Given the description of an element on the screen output the (x, y) to click on. 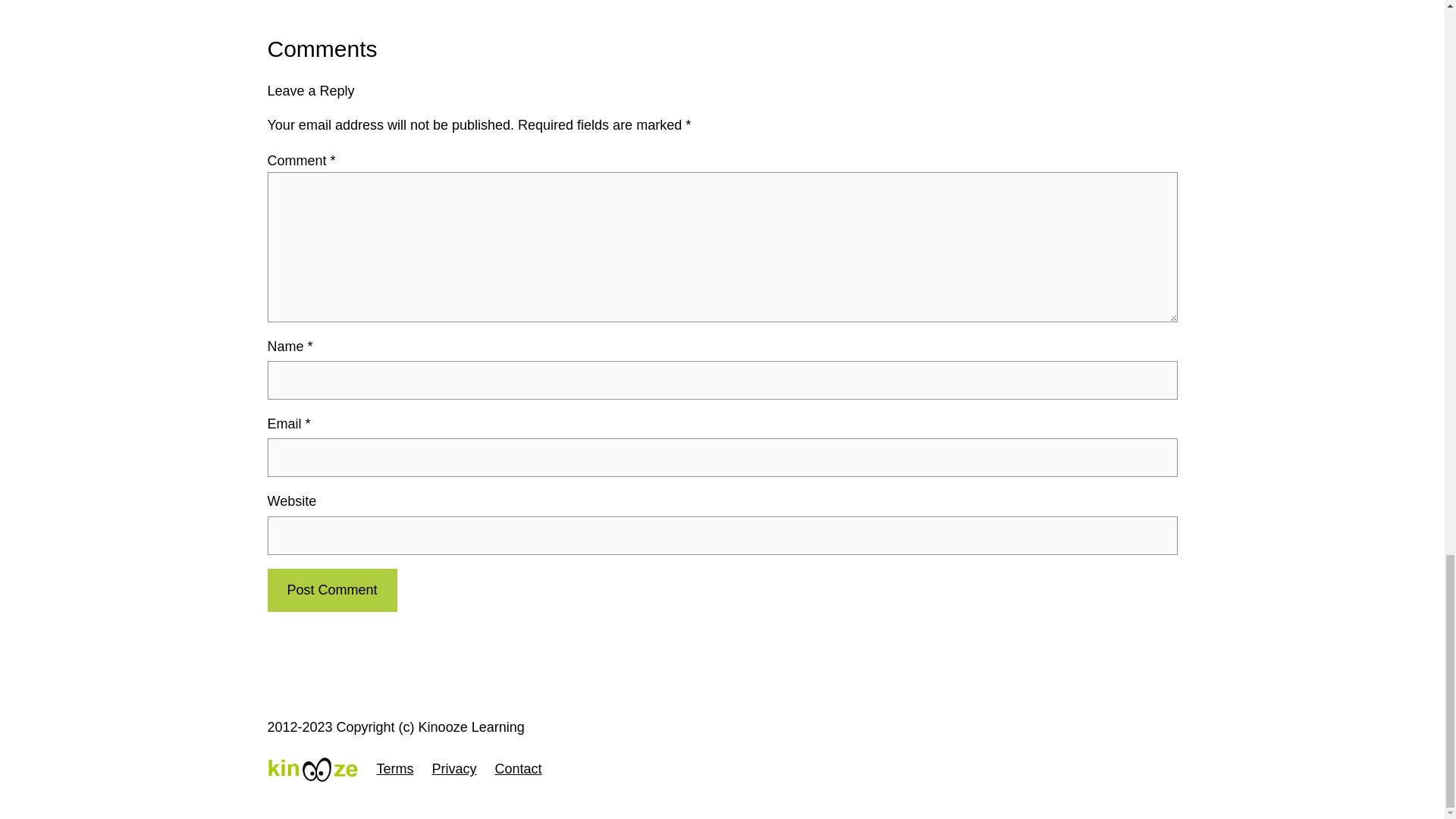
Post Comment (331, 589)
Terms (394, 768)
Privacy (454, 768)
Post Comment (331, 589)
Contact (518, 768)
